Given the description of an element on the screen output the (x, y) to click on. 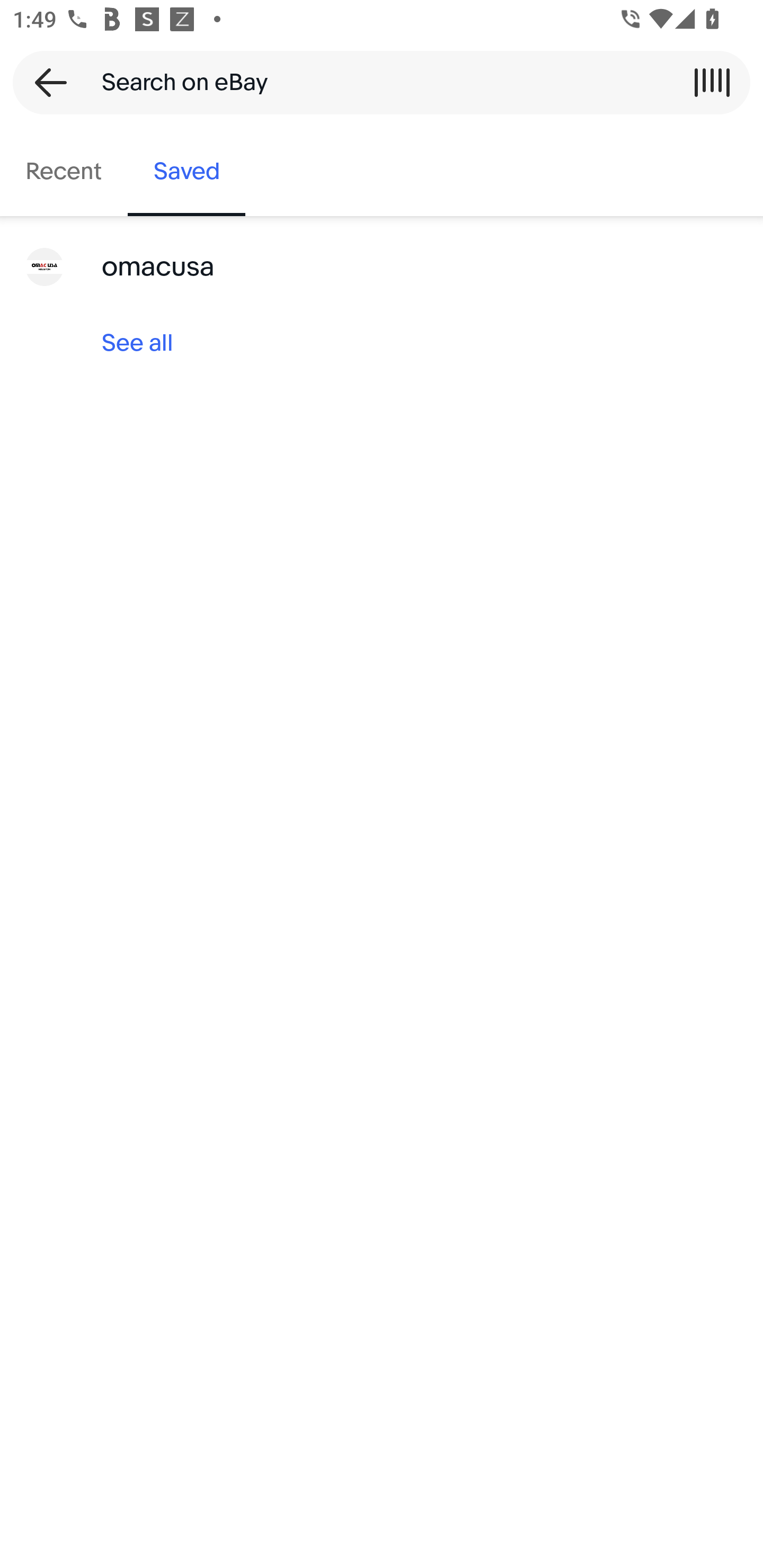
Back (44, 82)
Scan a barcode (711, 82)
Search on eBay (375, 82)
Recent, tab 1 of 2 Recent (63, 171)
User Search omacusa: omacusa (381, 266)
See all See all members (381, 343)
